Given the description of an element on the screen output the (x, y) to click on. 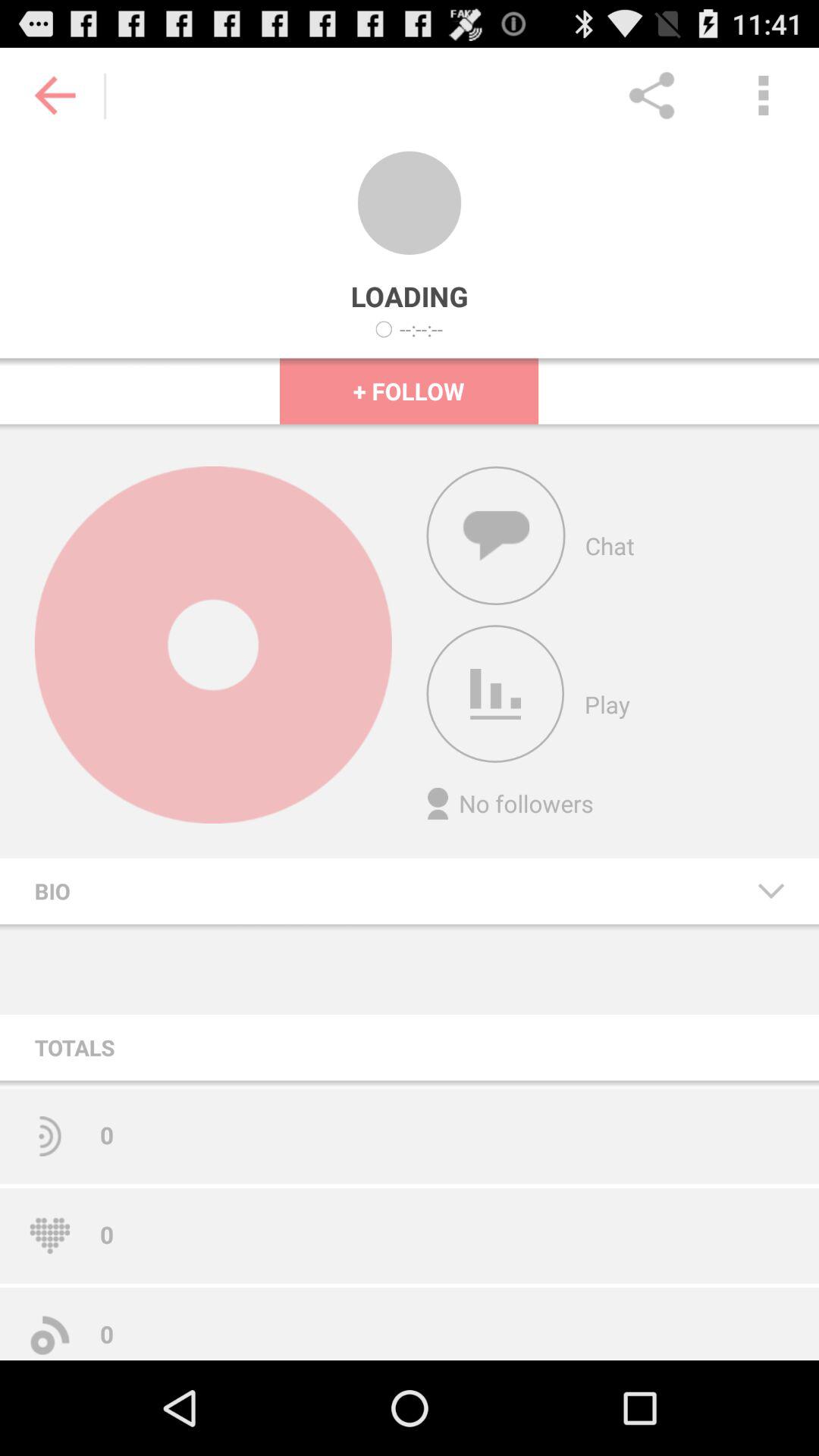
click icon above the no followers (495, 694)
